Given the description of an element on the screen output the (x, y) to click on. 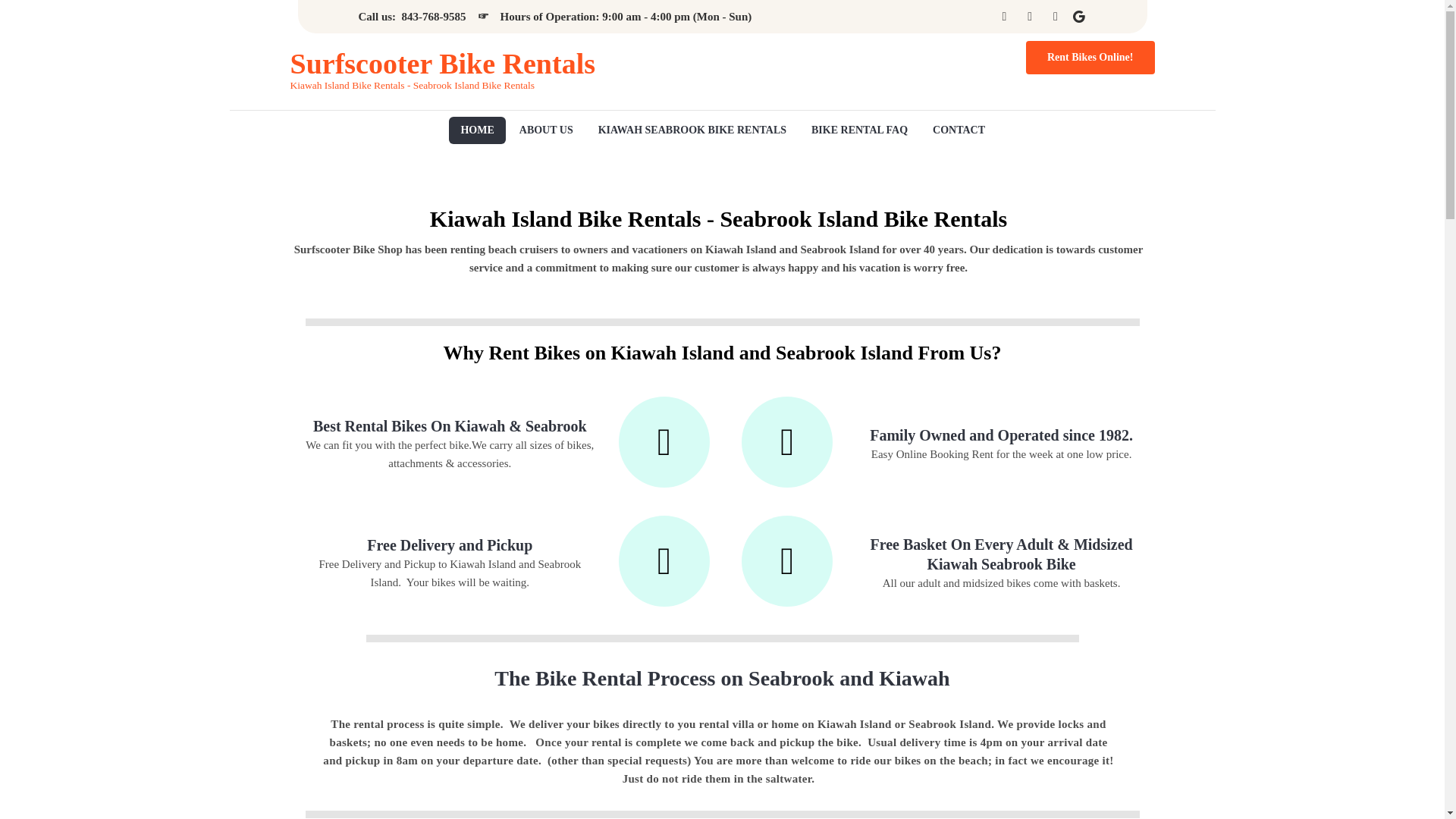
Rent Bikes on Kiawah Island and Seabrook Island (691, 130)
BIKE RENTAL FAQ (858, 130)
CONTACT (958, 130)
ABOUT US (546, 130)
Homepage-Surfscooter Bike Rentals (476, 130)
Rent Bikes Online! (1090, 57)
KIAWAH SEABROOK BIKE RENTALS (691, 130)
Surfscooter Bike Rentals (442, 64)
Surfscooter Bike Rentals (442, 64)
Rent Bikes Online! (890, 57)
HOME (476, 130)
